Given the description of an element on the screen output the (x, y) to click on. 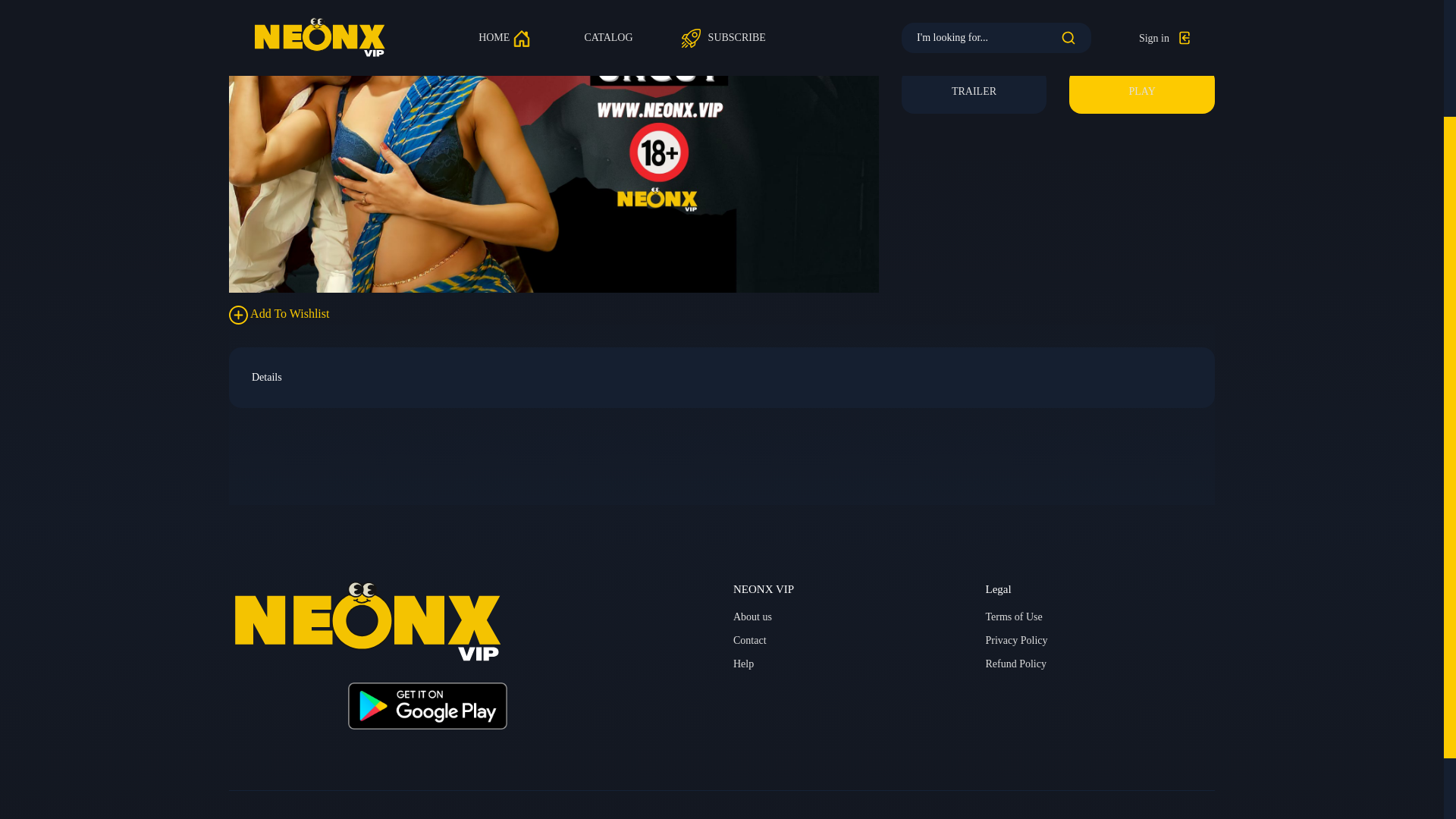
Privacy Policy (1015, 640)
Contact (750, 640)
Terms of Use (1013, 616)
TRAILER (973, 90)
Add To Wishlist (278, 314)
About us (752, 616)
PLAY (1141, 90)
Refund Policy (1015, 663)
Help (743, 663)
